Given the description of an element on the screen output the (x, y) to click on. 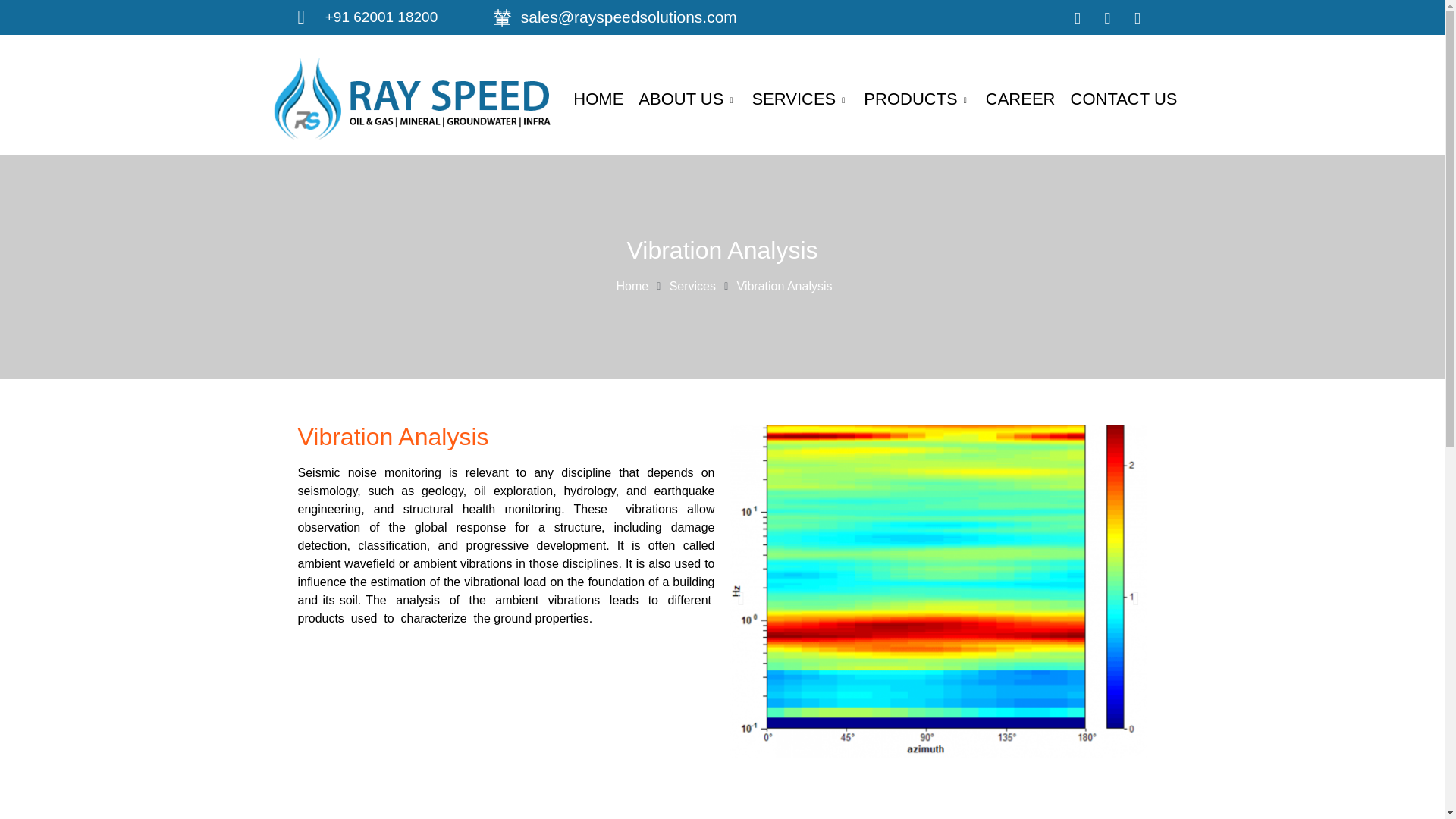
Home (629, 286)
CAREER (1020, 98)
PRODUCTS (916, 98)
SERVICES (800, 98)
ABOUT US (687, 98)
HOME (598, 98)
CONTACT US (1123, 98)
